Given the description of an element on the screen output the (x, y) to click on. 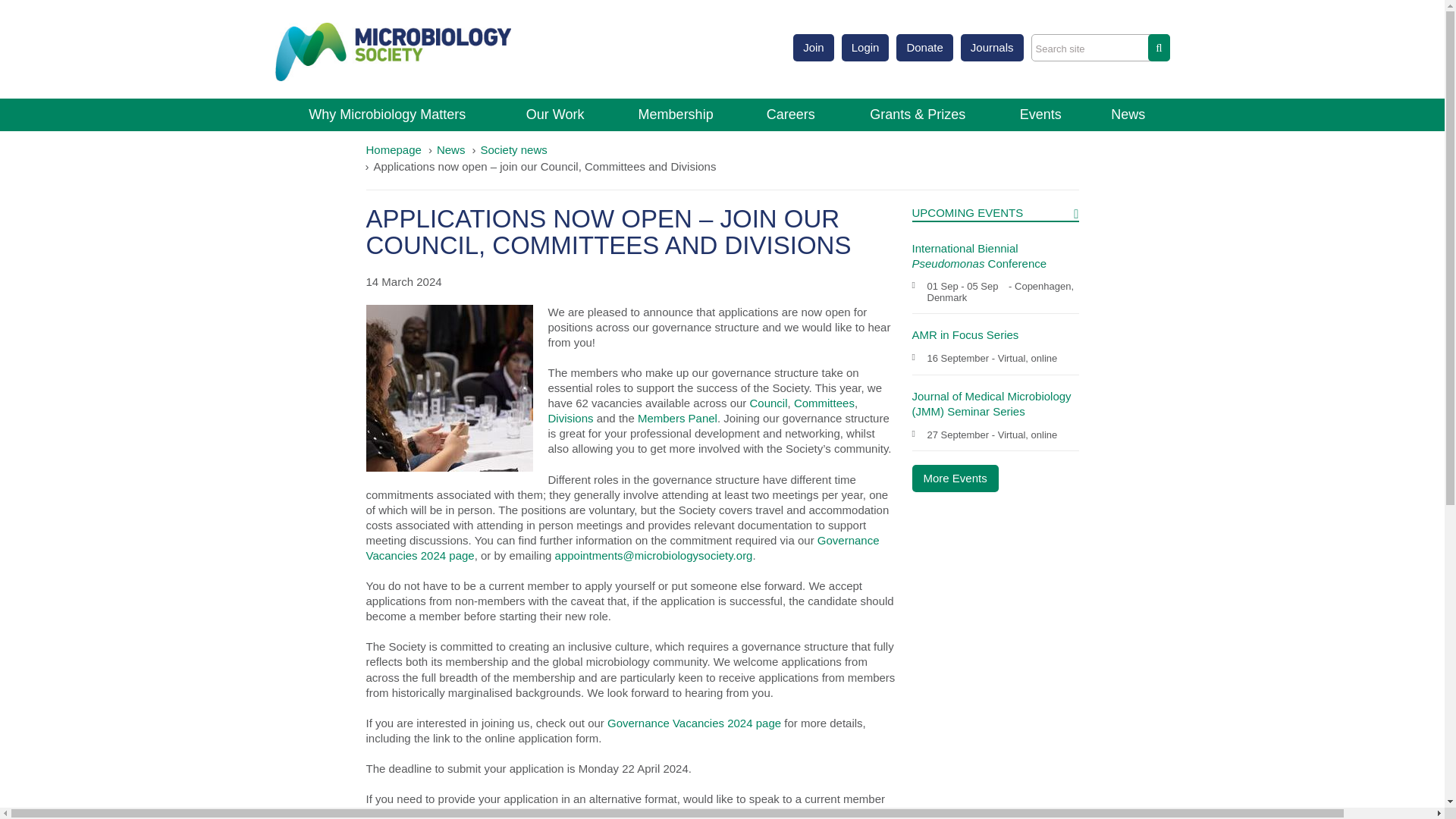
Membership (675, 114)
More Events (954, 478)
Donate (924, 47)
Login (865, 47)
Journals (991, 47)
Why Microbiology Matters (387, 114)
Careers (791, 114)
Join (813, 47)
Our Work (554, 114)
